Given the description of an element on the screen output the (x, y) to click on. 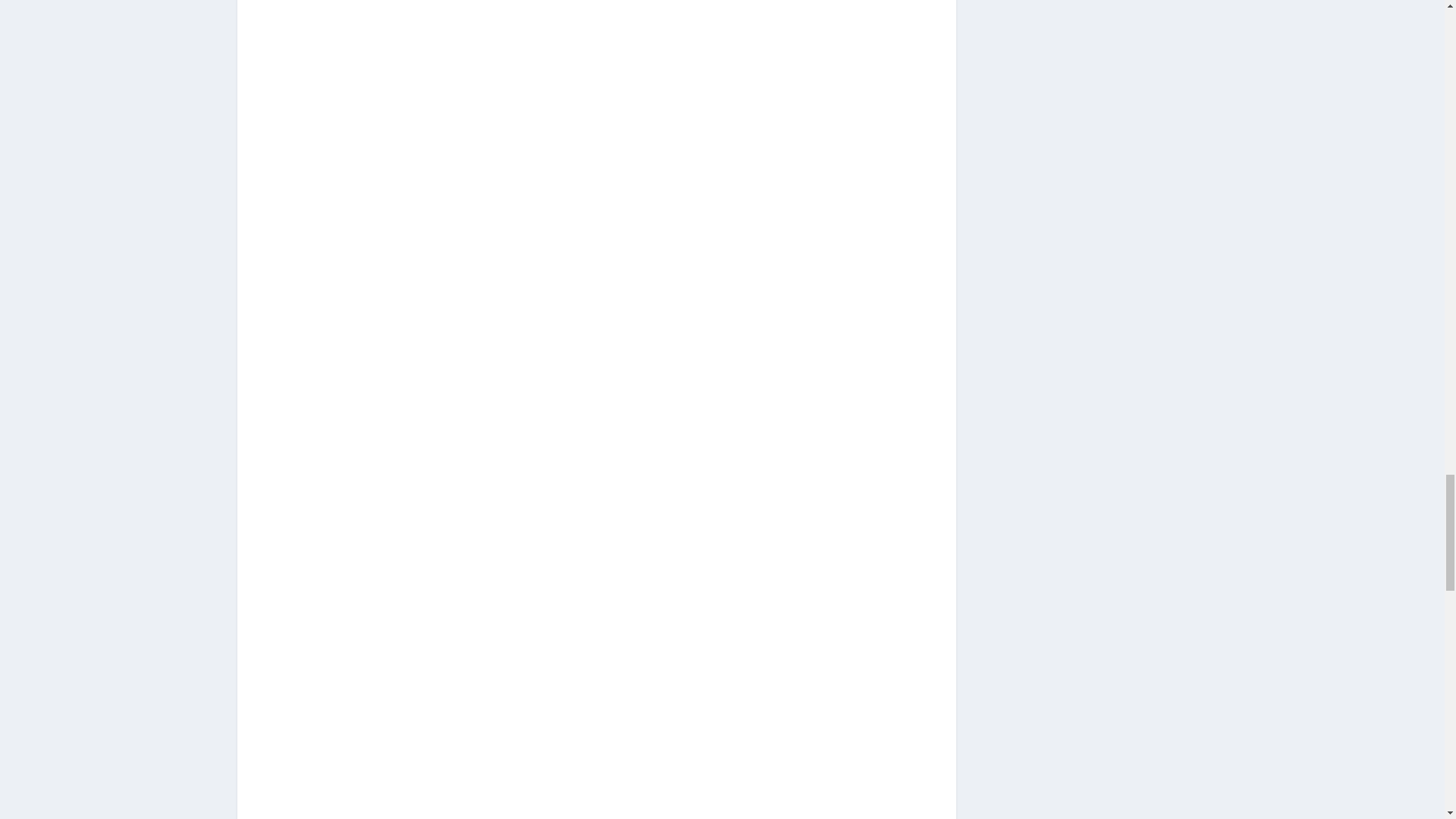
140424-105834-0005 (804, 28)
140424-111633-0025 (386, 418)
140424-111516-0019 (801, 276)
140424-110123-0009 (390, 130)
140424-110213-0011 (390, 276)
140424-105708-0001 (490, 28)
140424-110323-0015 (801, 130)
